Given the description of an element on the screen output the (x, y) to click on. 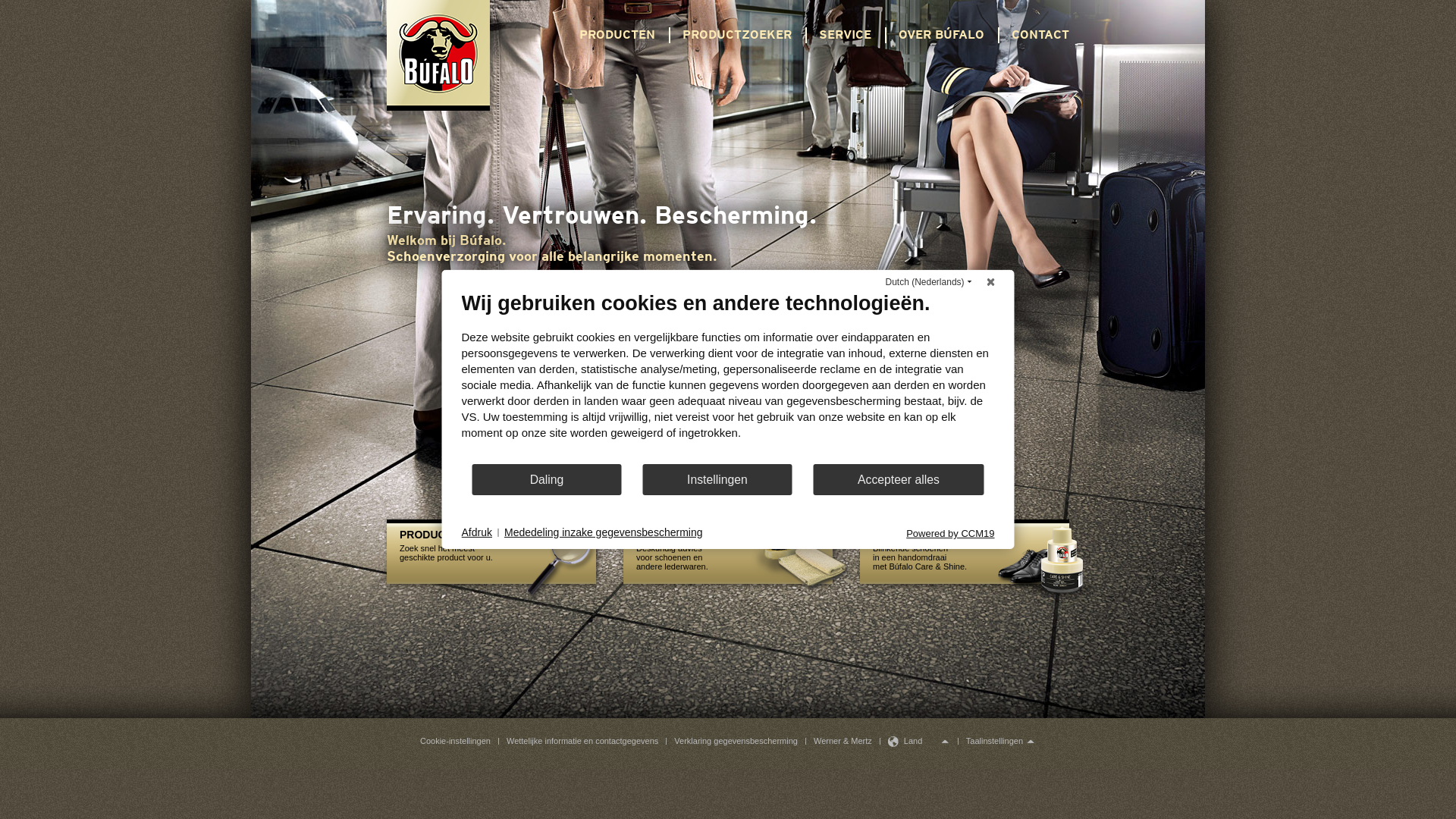
Mededeling inzake gegevensbescherming Element type: text (603, 532)
CONTACT Element type: text (1039, 35)
Instellingen Element type: text (717, 479)
Land Element type: text (907, 741)
PRODUCTZOEKER
Zoek snel het meest
geschikte product voor u. Element type: text (497, 555)
Daling Element type: text (546, 479)
Verklaring gegevensbescherming Element type: text (735, 740)
PRODUCTZOEKER Element type: text (736, 35)
PRODUCTEN Element type: text (616, 35)
Accepteer alles Element type: text (897, 479)
Werner & Mertz Element type: text (842, 740)
Afdruk Element type: text (476, 532)
Powered by CCM19 Element type: text (950, 533)
Wettelijke informatie en contactgegevens Element type: text (581, 740)
Close Element type: hover (990, 281)
SERVICE Element type: text (844, 35)
Cookie-instellingen Element type: text (455, 740)
Taalinstellingen Element type: text (996, 740)
TIPS
Deskundig advies
voor schoenen en
andere lederwaren. Element type: text (734, 555)
